Given the description of an element on the screen output the (x, y) to click on. 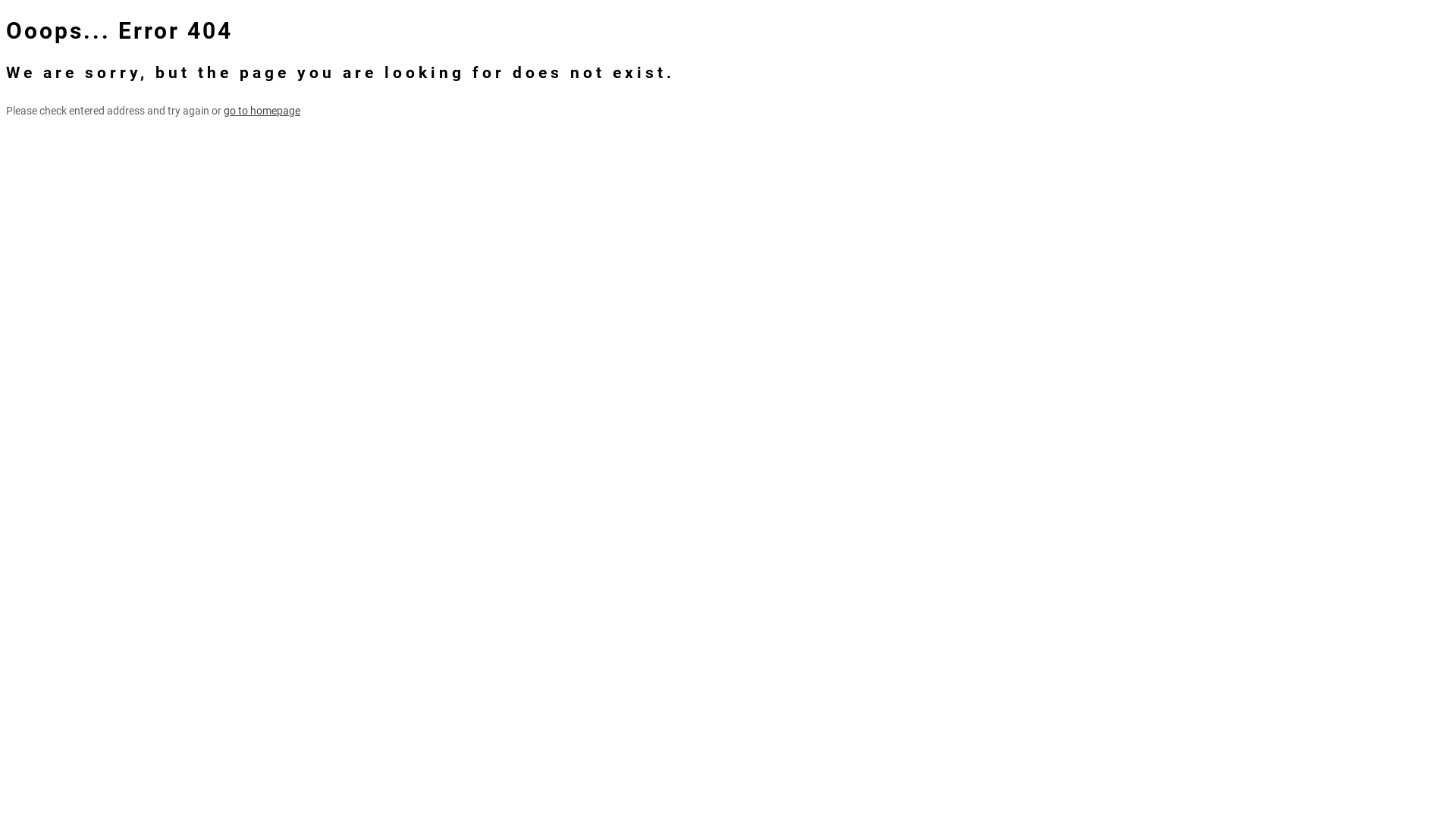
go to homepage Element type: text (261, 110)
